Given the description of an element on the screen output the (x, y) to click on. 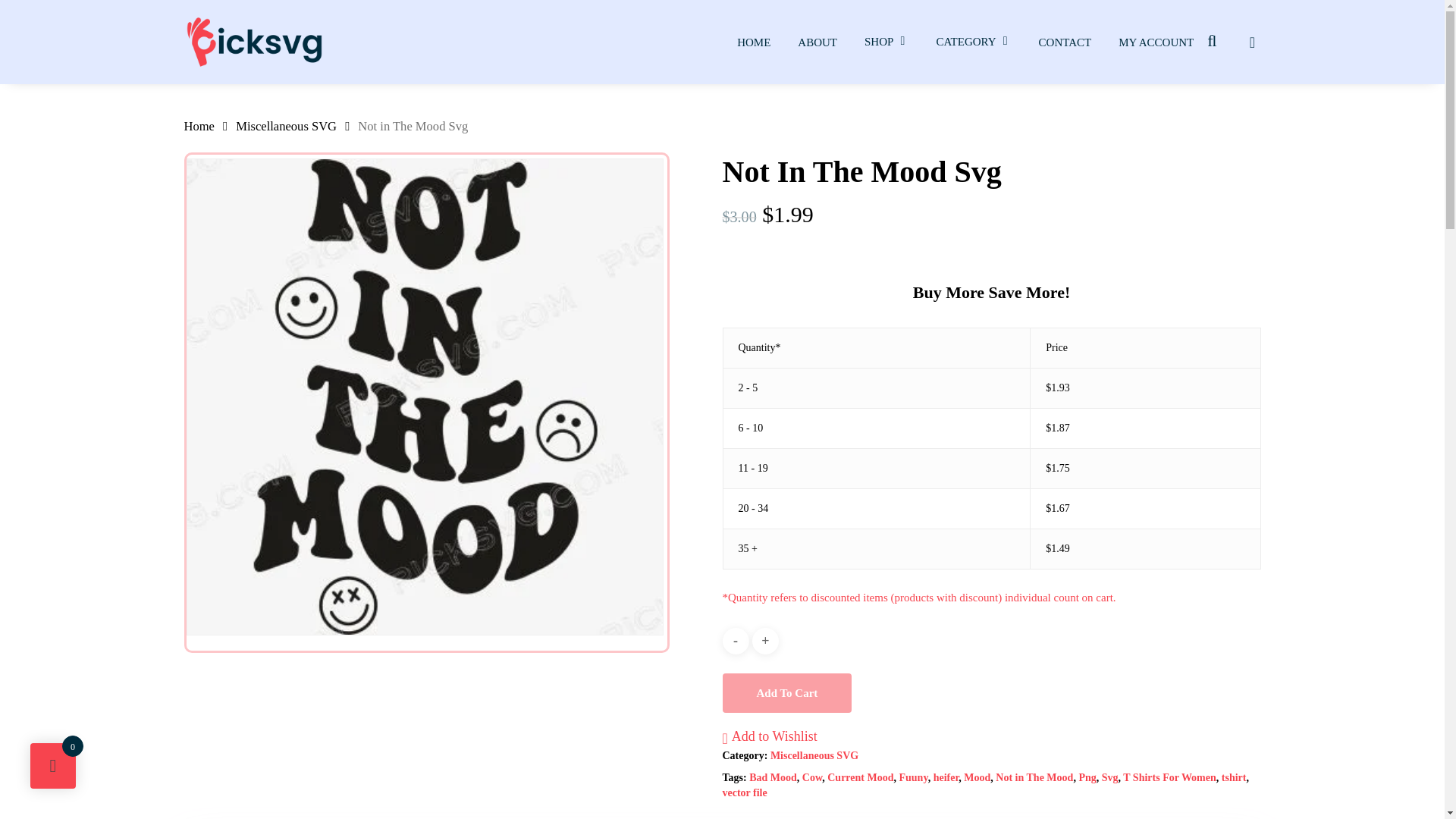
CONTACT (1065, 42)
- (735, 641)
CATEGORY (973, 42)
SHOP (885, 42)
HOME (753, 42)
Home (198, 125)
ABOUT (817, 42)
Miscellaneous SVG (285, 125)
MY ACCOUNT (1156, 42)
